Given the description of an element on the screen output the (x, y) to click on. 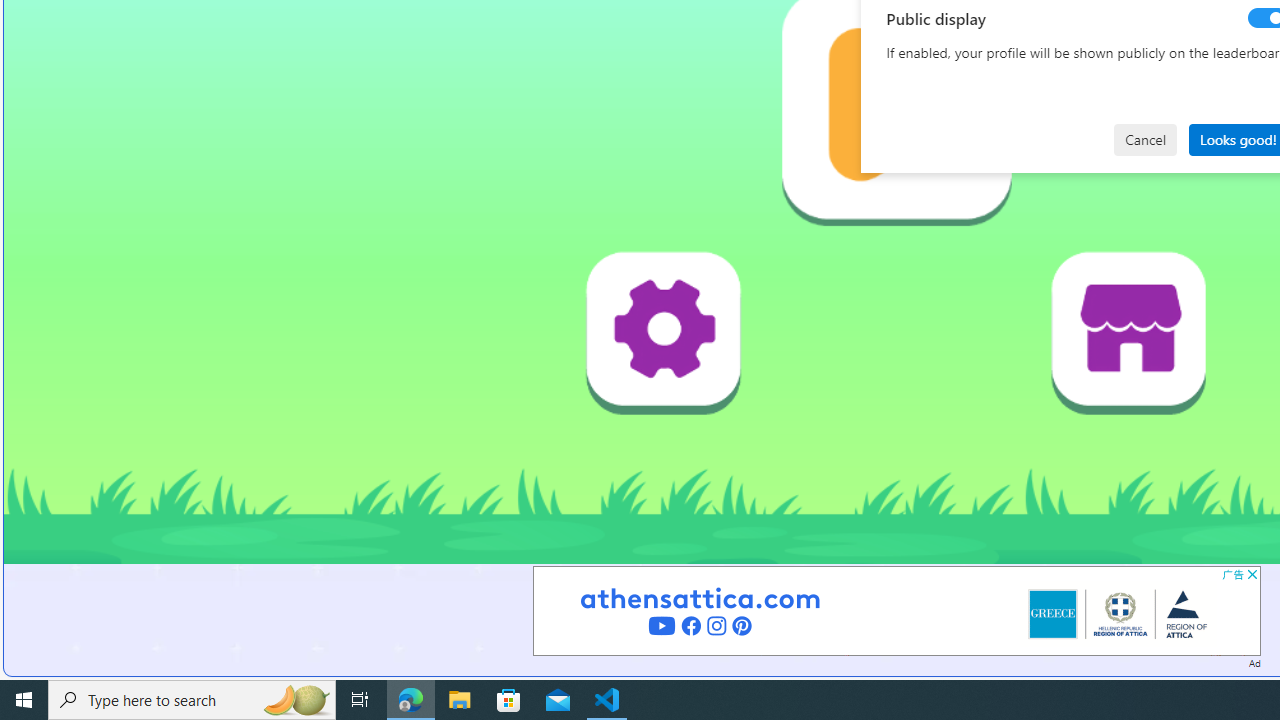
Cancel (1145, 139)
AutomationID: cbb (1252, 574)
Advertisement (896, 610)
Advertisement (896, 610)
